Given the description of an element on the screen output the (x, y) to click on. 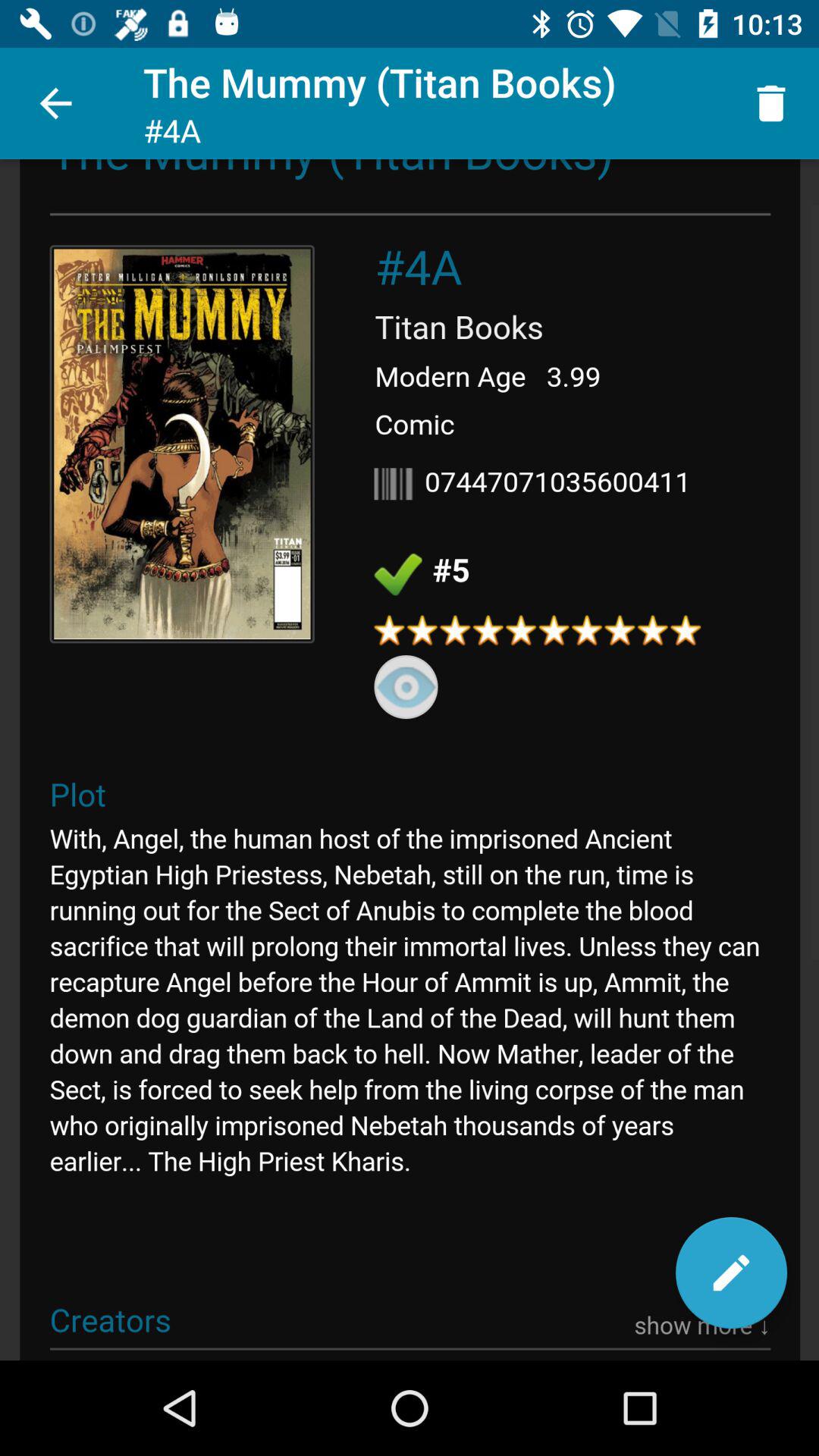
press the item at the bottom right corner (731, 1272)
